Given the description of an element on the screen output the (x, y) to click on. 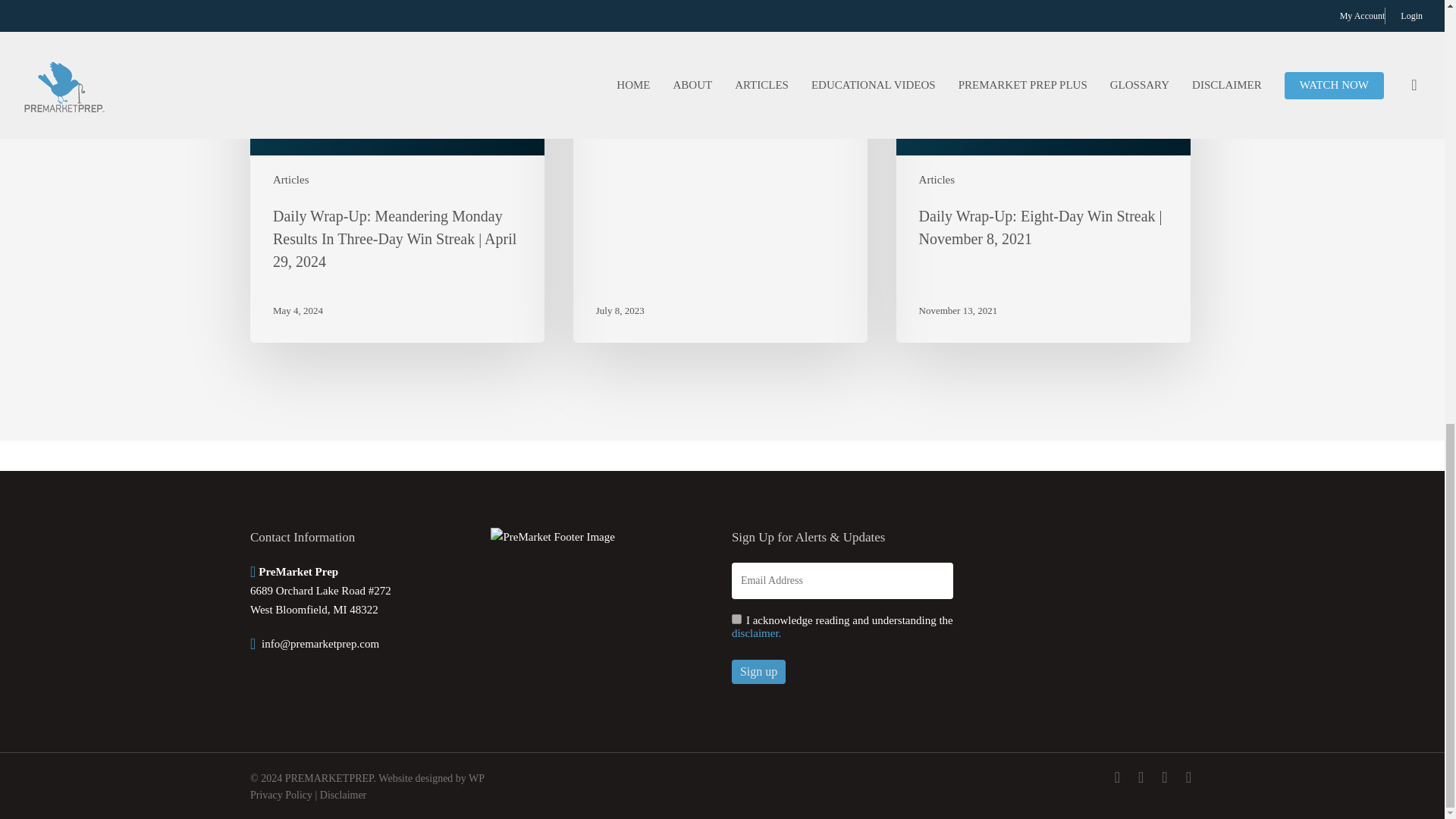
Website designed by WP (431, 778)
Privacy Policy (281, 794)
Articles (290, 179)
Sign up (759, 671)
Articles (936, 179)
1 (736, 619)
Sign up (759, 671)
disclaimer. (756, 633)
Disclaimer (343, 794)
